Given the description of an element on the screen output the (x, y) to click on. 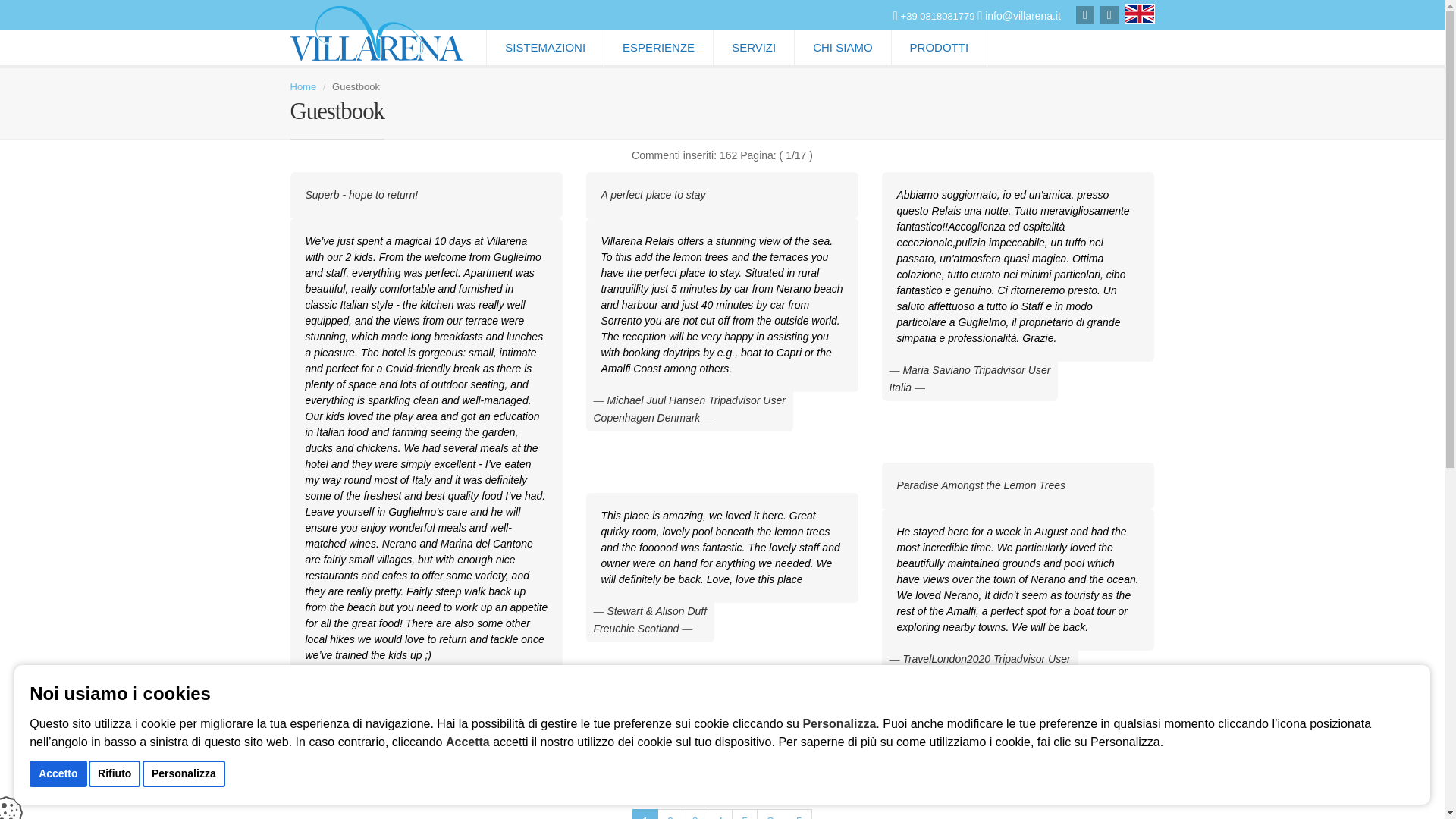
ESPERIENZE (658, 47)
Accetto (57, 773)
Personalizza (183, 773)
Rifiuto (113, 773)
SISTEMAZIONI (545, 47)
CHI SIAMO (841, 47)
SERVIZI (753, 47)
